Given the description of an element on the screen output the (x, y) to click on. 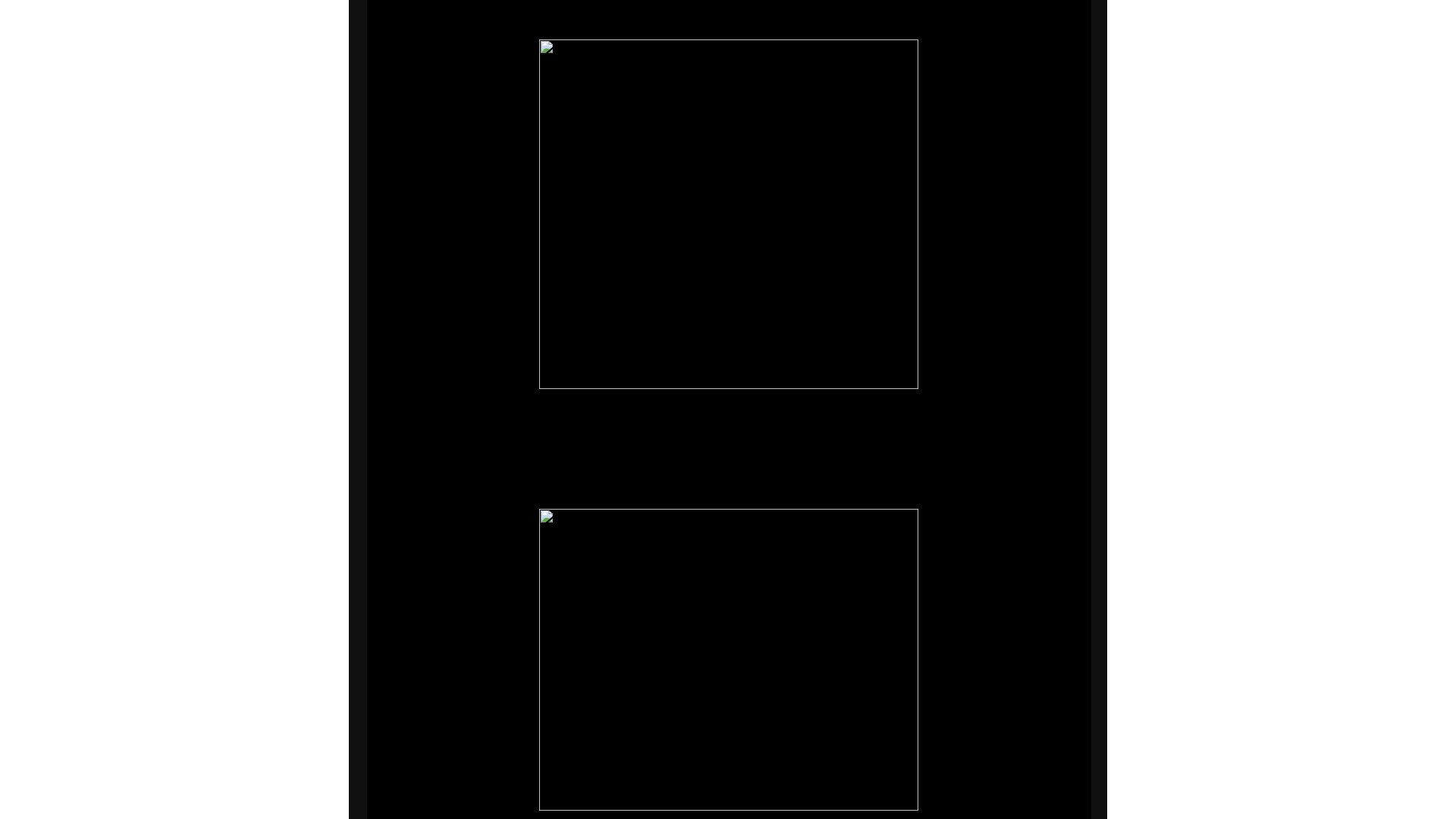
YP05cr (728, 214)
YP08-cr (728, 659)
